Given the description of an element on the screen output the (x, y) to click on. 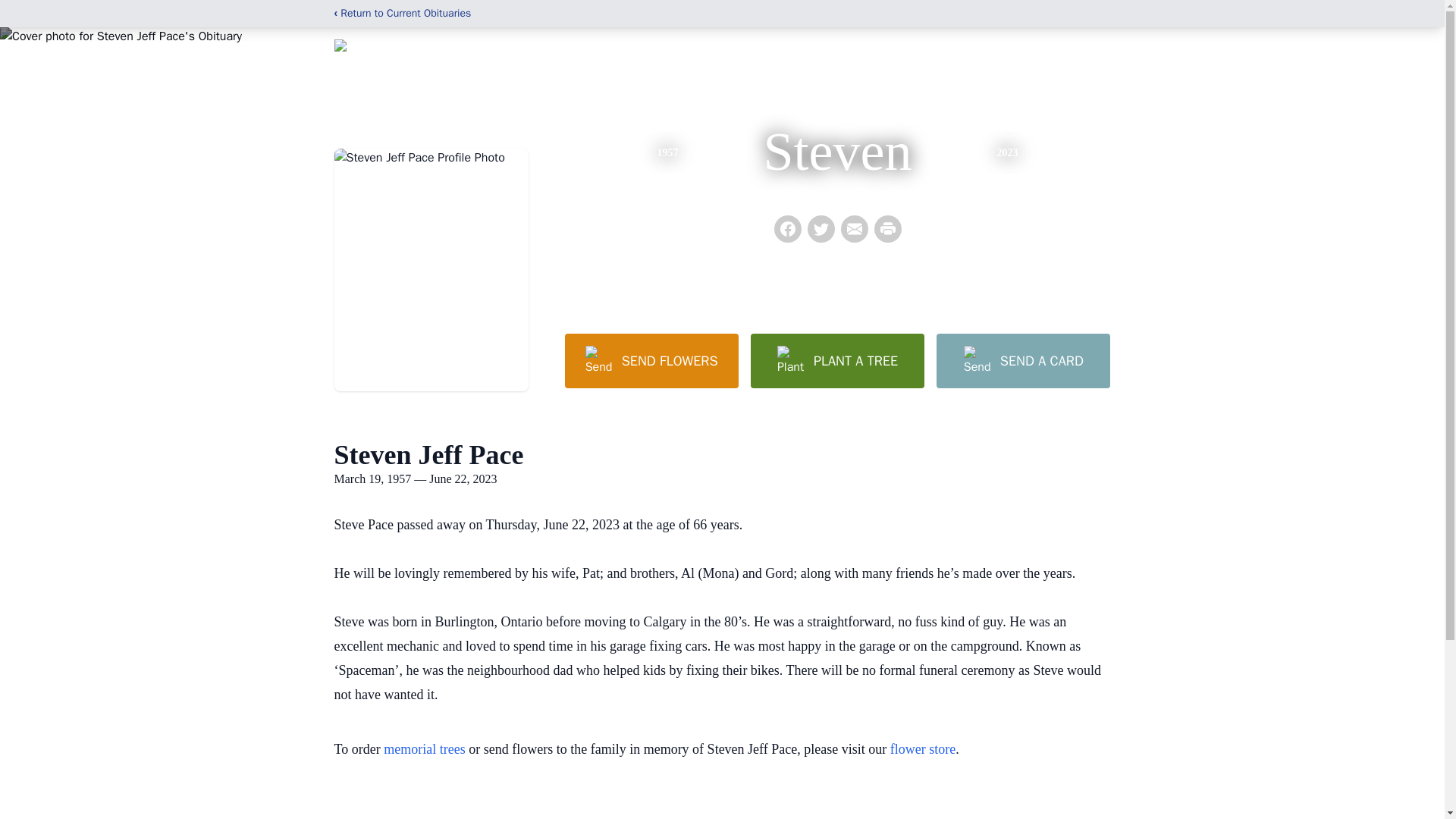
PLANT A TREE (837, 360)
SEND FLOWERS (651, 360)
SEND A CARD (1022, 360)
memorial trees (424, 749)
flower store (922, 749)
